Given the description of an element on the screen output the (x, y) to click on. 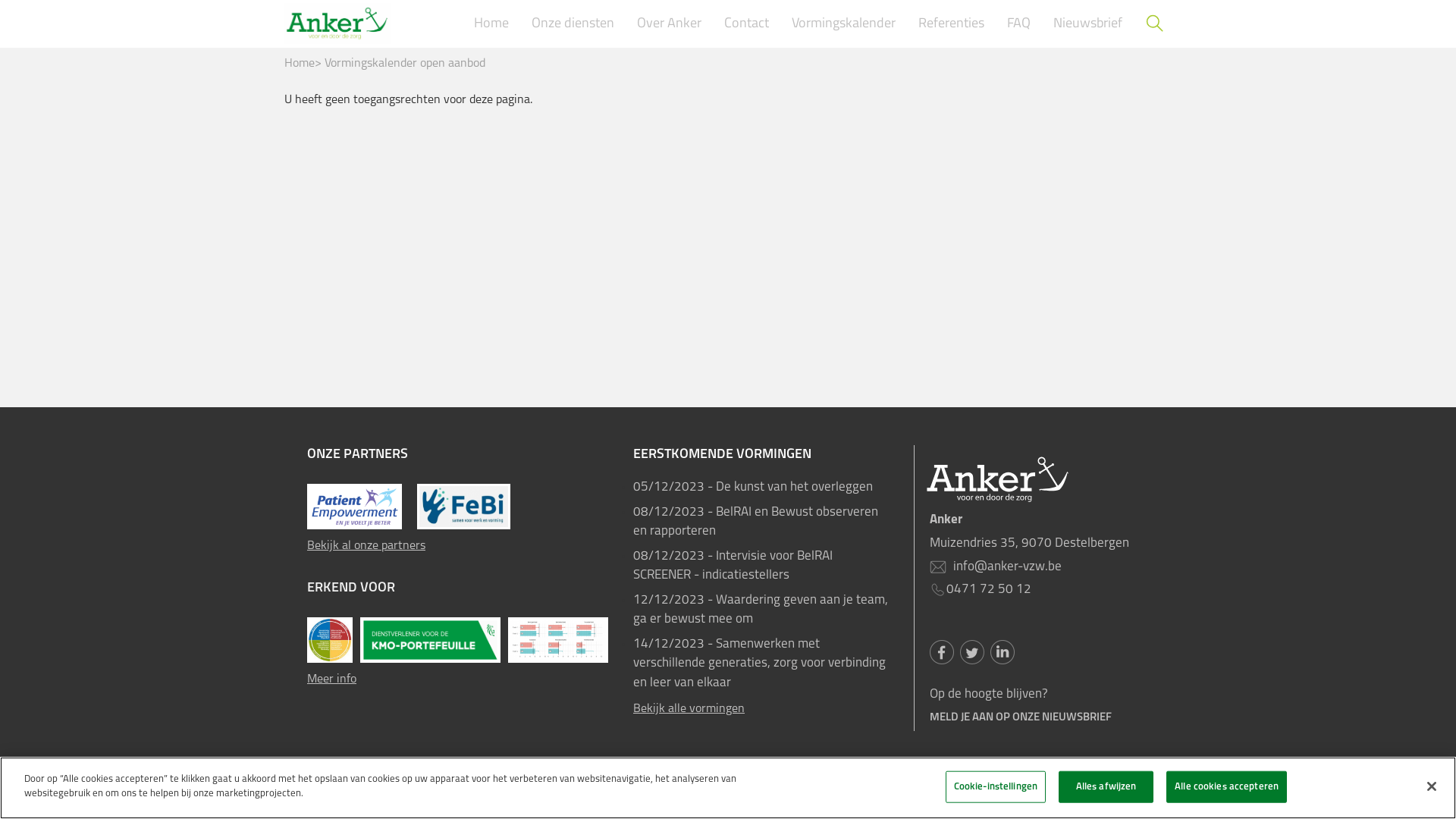
Disclaimer Element type: text (718, 794)
Overslaan en naar de inhoud gaan Element type: text (0, 0)
Bekijk al onze partners Element type: text (458, 546)
MELD JE AAN OP ONZE NIEUWSBRIEF Element type: text (1020, 717)
Meer info Element type: text (458, 679)
Privacy Statement Element type: text (406, 794)
Contact Element type: text (746, 23)
08/12/2023 - BelRAI en Bewust observeren en rapporteren Element type: text (762, 521)
Algemene voorwaarden Element type: text (621, 794)
Alle cookies accepteren Element type: text (1226, 787)
Vormingskalender open aanbod Element type: text (404, 63)
Cookie-instellingen Element type: text (995, 787)
Over Anker Element type: text (669, 23)
Bekijk alle vormingen Element type: text (762, 709)
Home Element type: text (299, 63)
Webcare by Brandle Element type: text (1115, 794)
FAQ Element type: text (1018, 23)
Nieuwsbrief Element type: text (1087, 23)
Onze diensten Element type: text (572, 23)
Vormingskalender Element type: text (843, 23)
Home Element type: text (491, 23)
Referenties Element type: text (950, 23)
Cookie Statement Element type: text (507, 794)
info@anker-vzw.be Element type: text (1005, 566)
05/12/2023 - De kunst van het overleggen Element type: text (762, 487)
Alles afwijzen Element type: text (1105, 787)
